Given the description of an element on the screen output the (x, y) to click on. 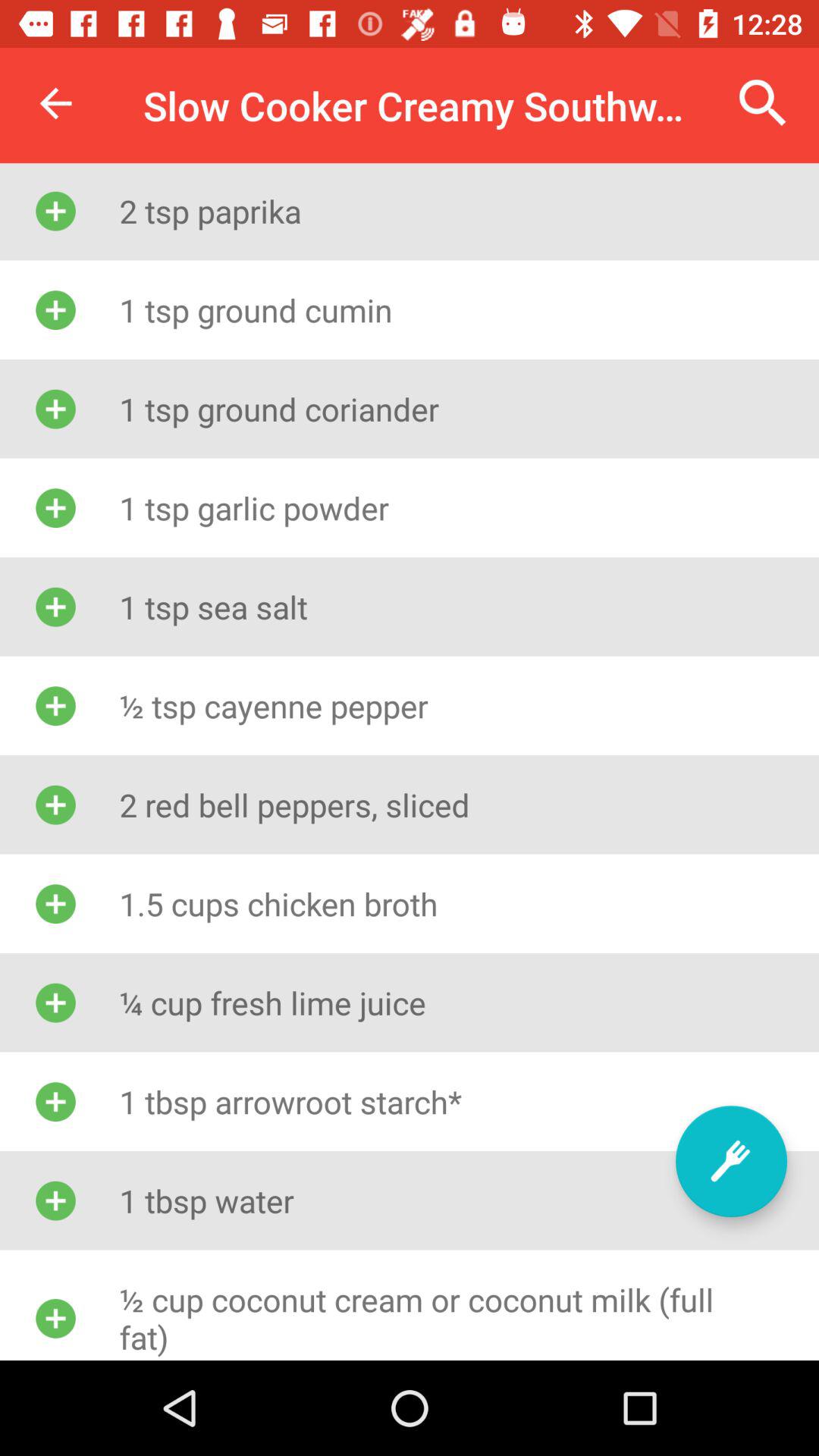
open icon next to slow cooker creamy (55, 103)
